Given the description of an element on the screen output the (x, y) to click on. 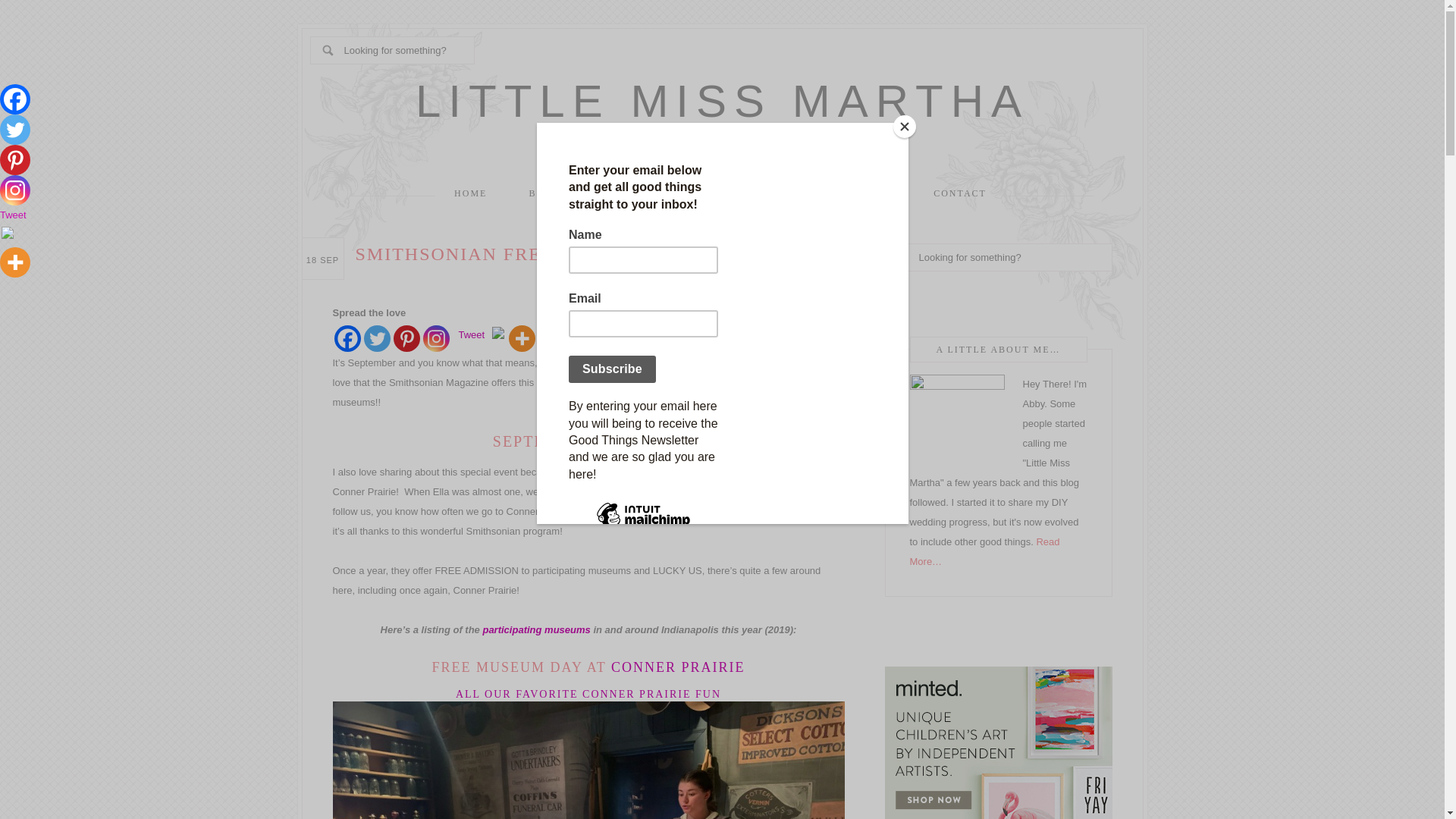
LTK FINDS (862, 192)
BLOG (543, 192)
More (521, 338)
Pinterest (406, 338)
Twitter (377, 338)
More (15, 262)
ABOUT (620, 192)
